Given the description of an element on the screen output the (x, y) to click on. 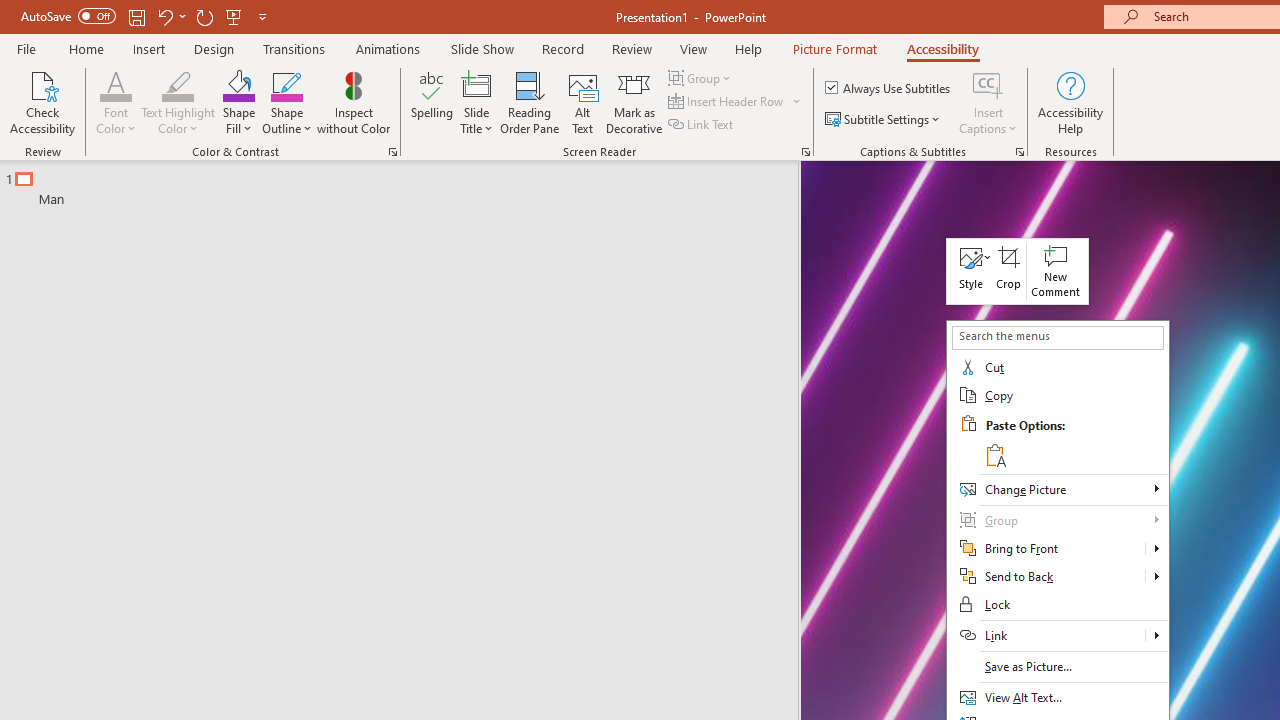
Send to Back (1057, 577)
Mark as Decorative (634, 102)
Screen Reader (805, 151)
Class: NetUIToolWindow (1017, 271)
